Given the description of an element on the screen output the (x, y) to click on. 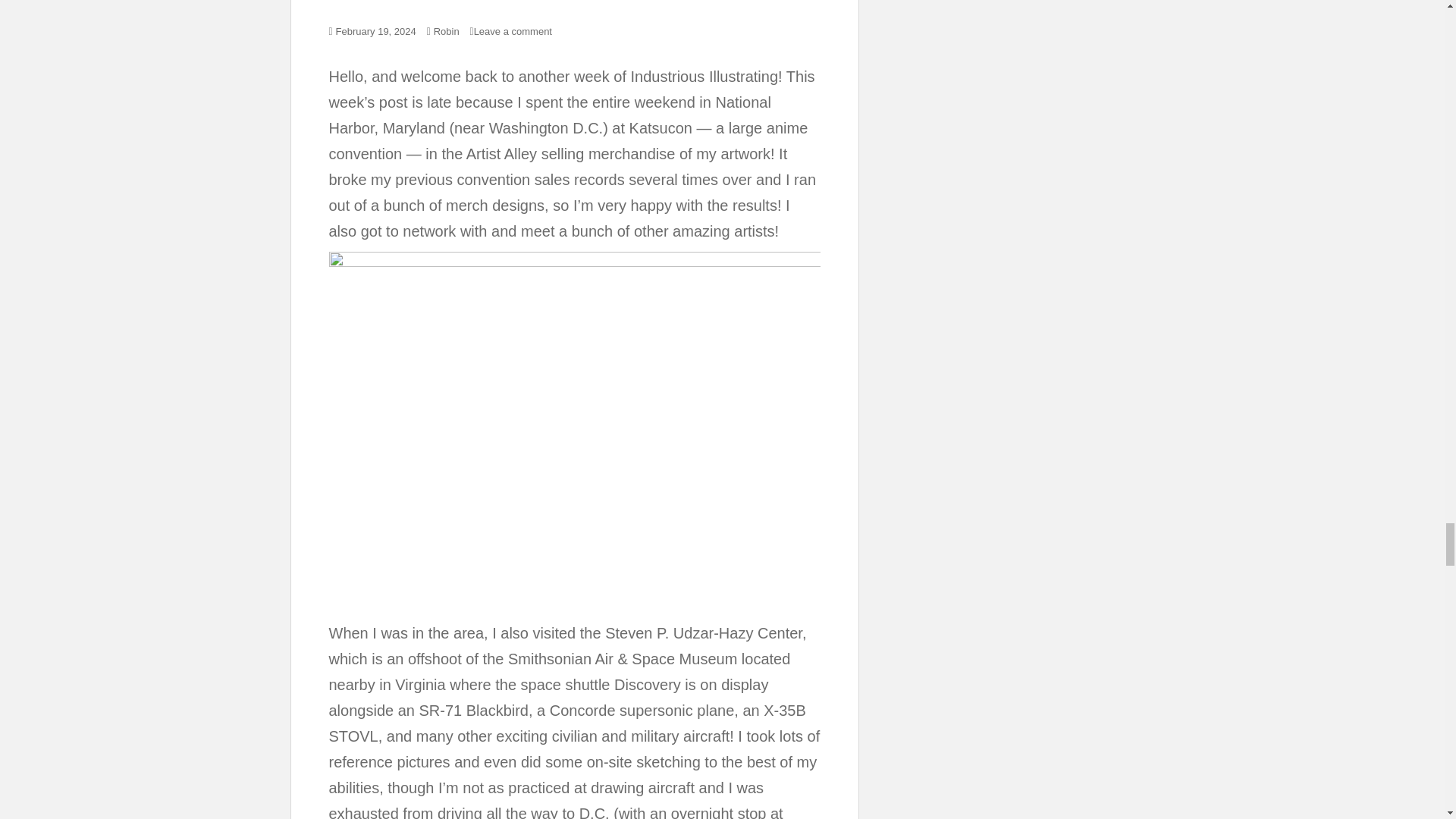
February 19, 2024 (376, 30)
Robin (446, 30)
Leave a comment (512, 30)
